Given the description of an element on the screen output the (x, y) to click on. 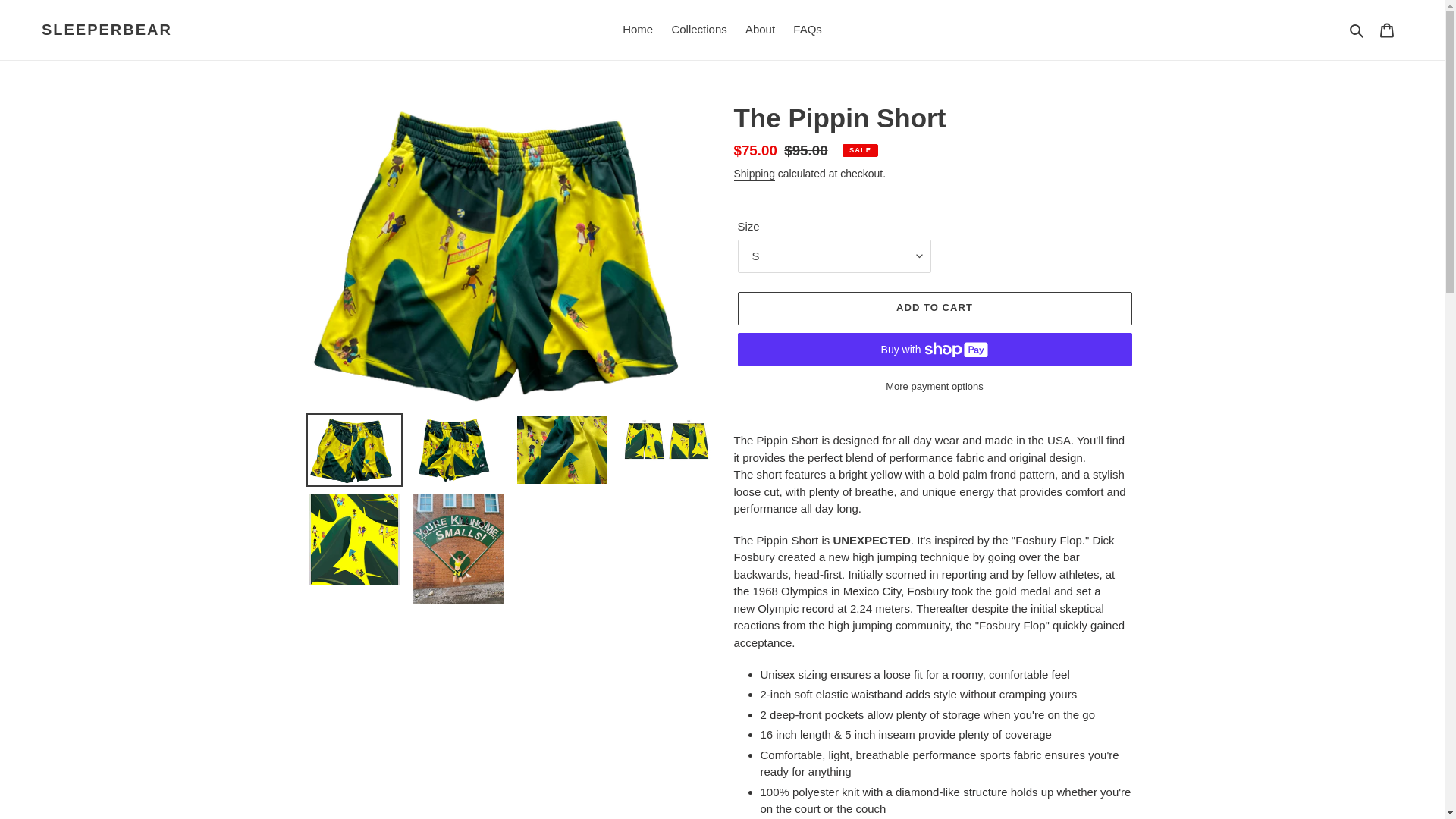
Shipping (753, 173)
More payment options (933, 386)
Collections (698, 29)
FAQs (807, 29)
About (760, 29)
Search (1357, 29)
SLEEPERBEAR (106, 29)
UNEXPECTED (871, 540)
Home (637, 29)
ADD TO CART (933, 308)
Cart (1387, 29)
